Given the description of an element on the screen output the (x, y) to click on. 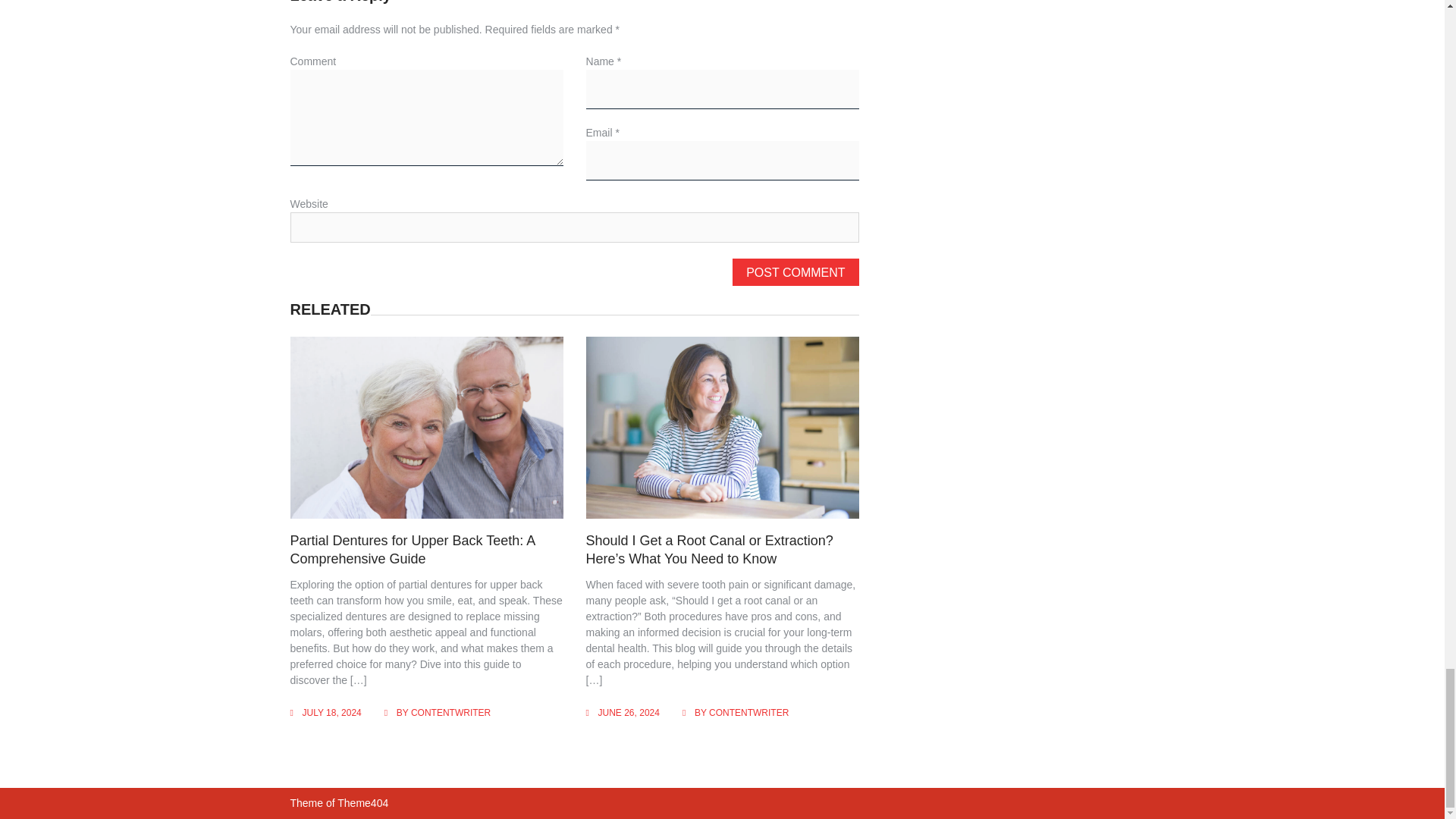
CONTENTWRITER (749, 712)
Partial Dentures for Upper Back Teeth: A Comprehensive Guide (411, 549)
JULY 18, 2024 (331, 712)
JUNE 26, 2024 (628, 712)
Post Comment (795, 271)
CONTENTWRITER (450, 712)
Post Comment (795, 271)
